Given the description of an element on the screen output the (x, y) to click on. 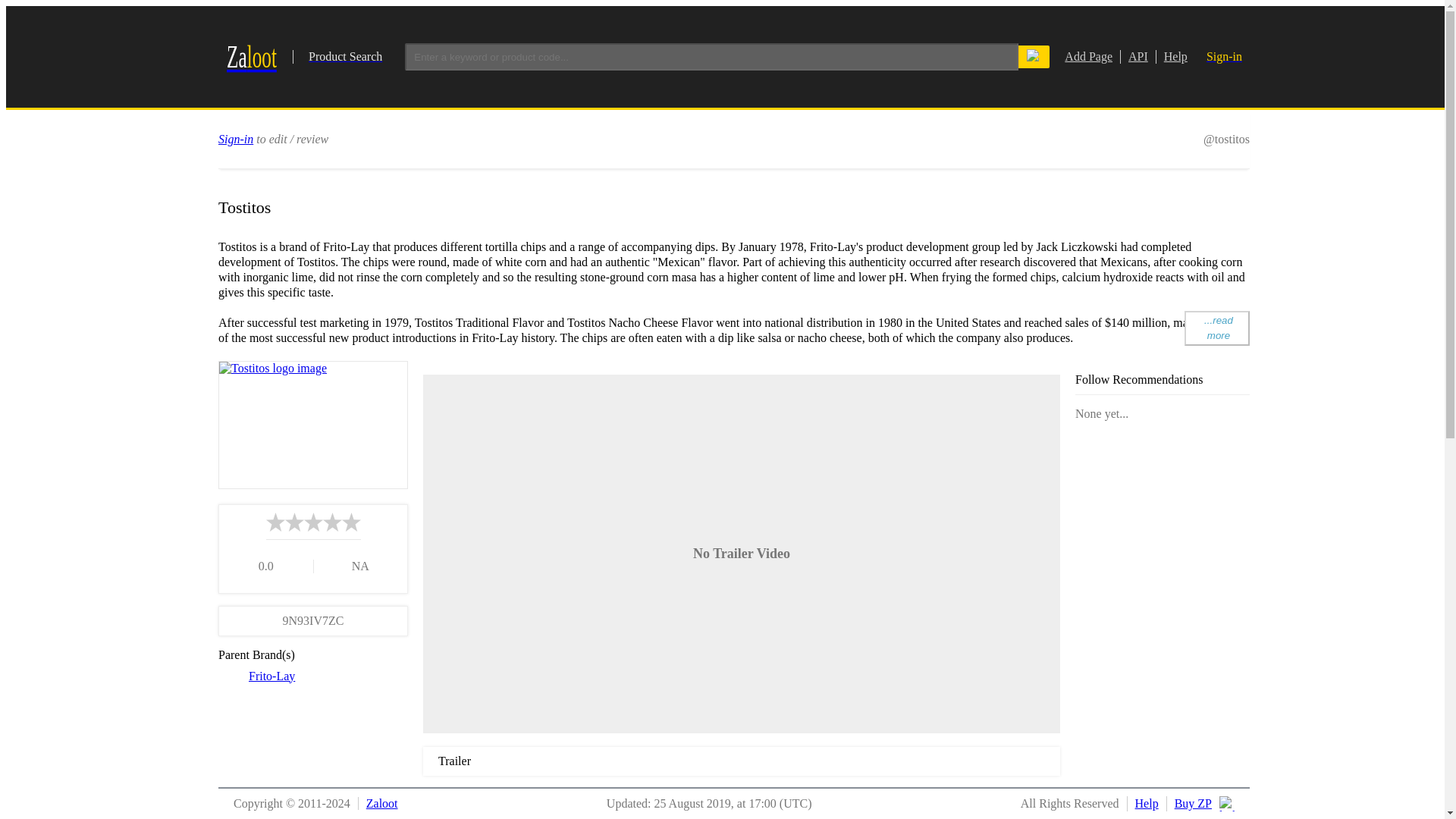
Zaloot (303, 56)
API (377, 802)
...read more (1133, 56)
Sign-in (1217, 328)
Sign-in (1224, 56)
Help (235, 137)
Add Page (1172, 56)
Help (1088, 56)
Buy ZP (1142, 803)
Frito-Lay (1188, 803)
sign-in (271, 675)
